Given the description of an element on the screen output the (x, y) to click on. 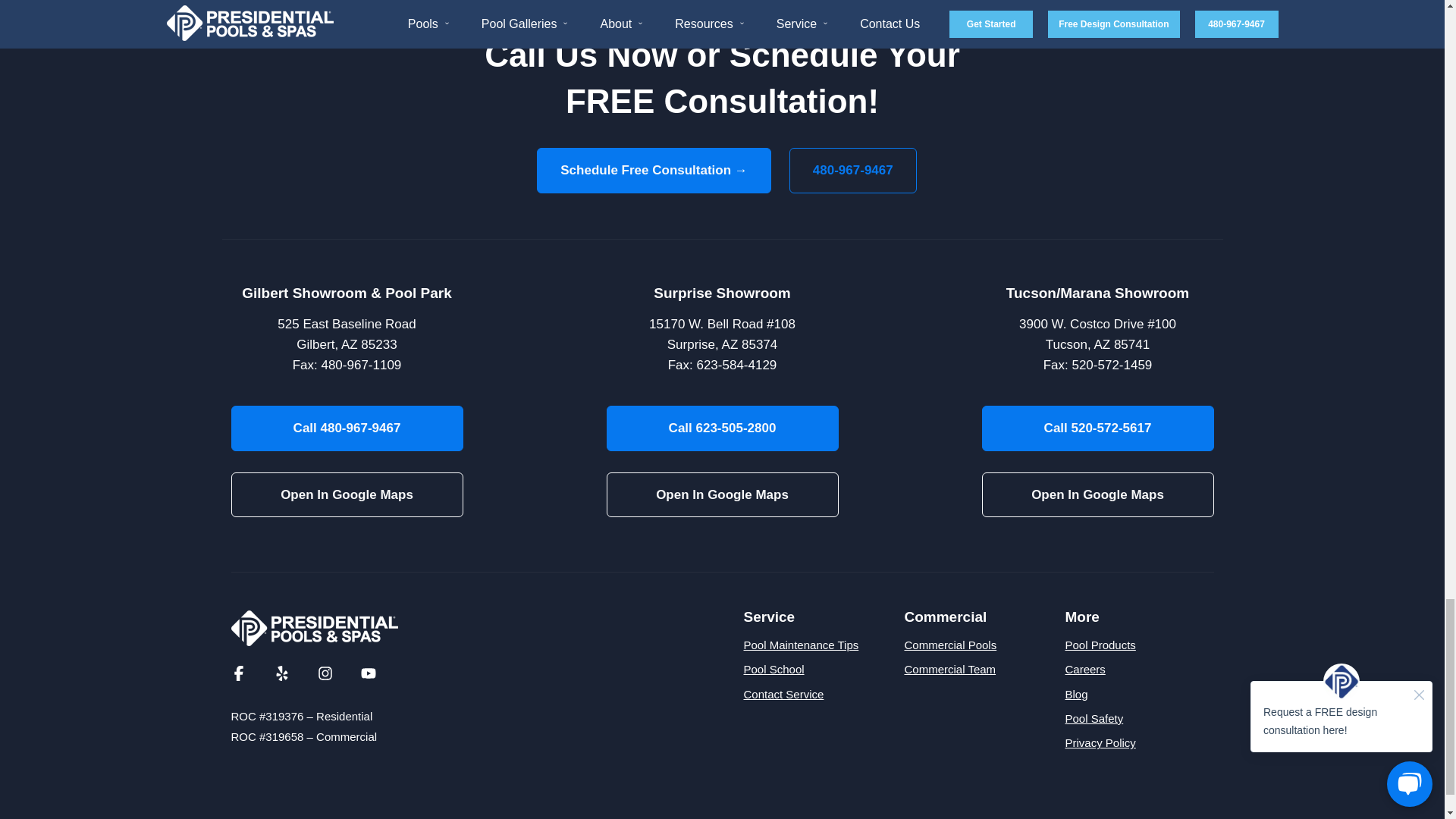
Schedule Free Consultation (654, 170)
YouTube (368, 672)
Instagram (324, 672)
Yelp (282, 672)
Facebook (238, 672)
480-967-9467  (853, 170)
